Given the description of an element on the screen output the (x, y) to click on. 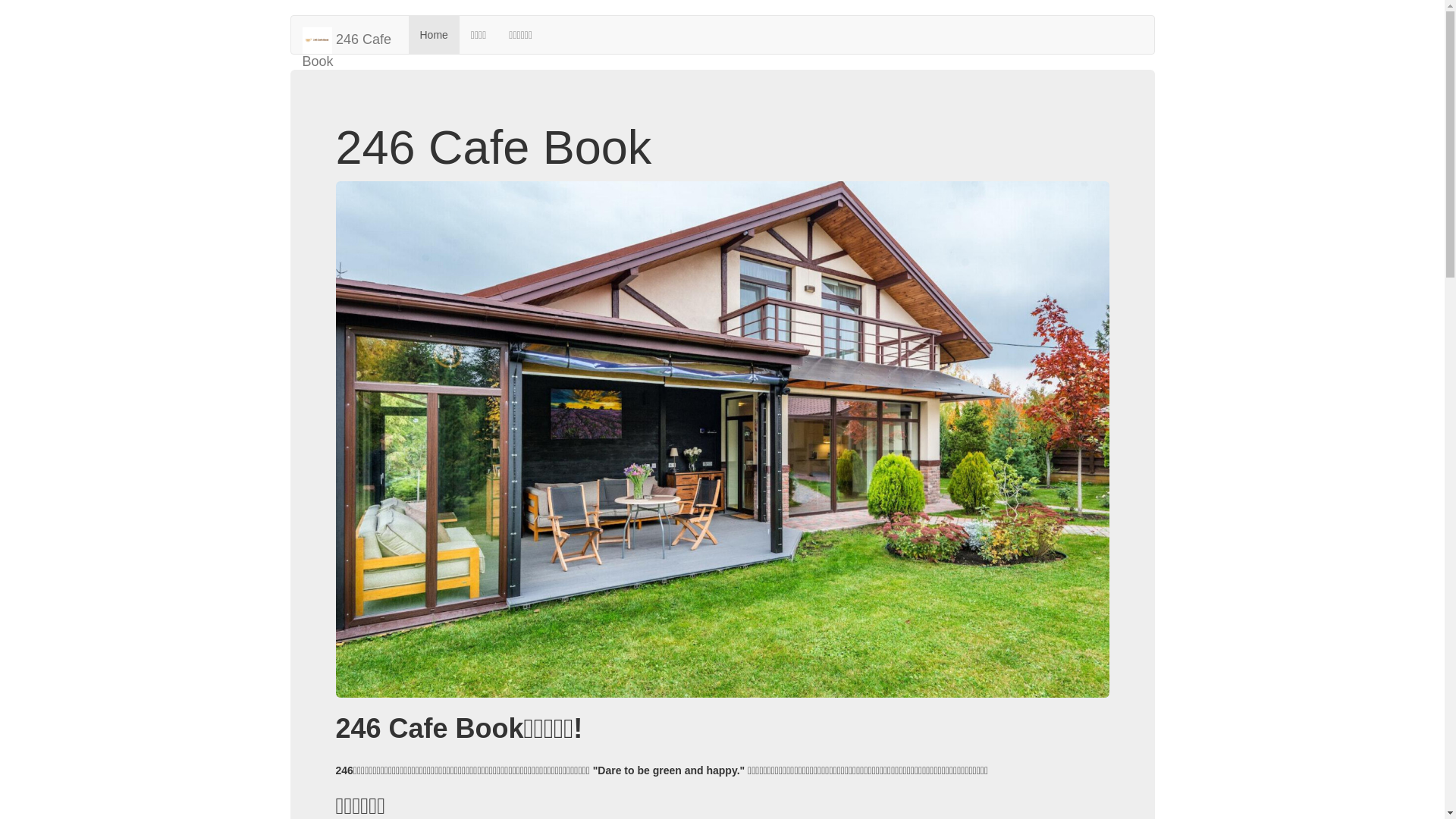
246 Cafe Book Element type: text (349, 34)
Home Element type: text (432, 34)
